Given the description of an element on the screen output the (x, y) to click on. 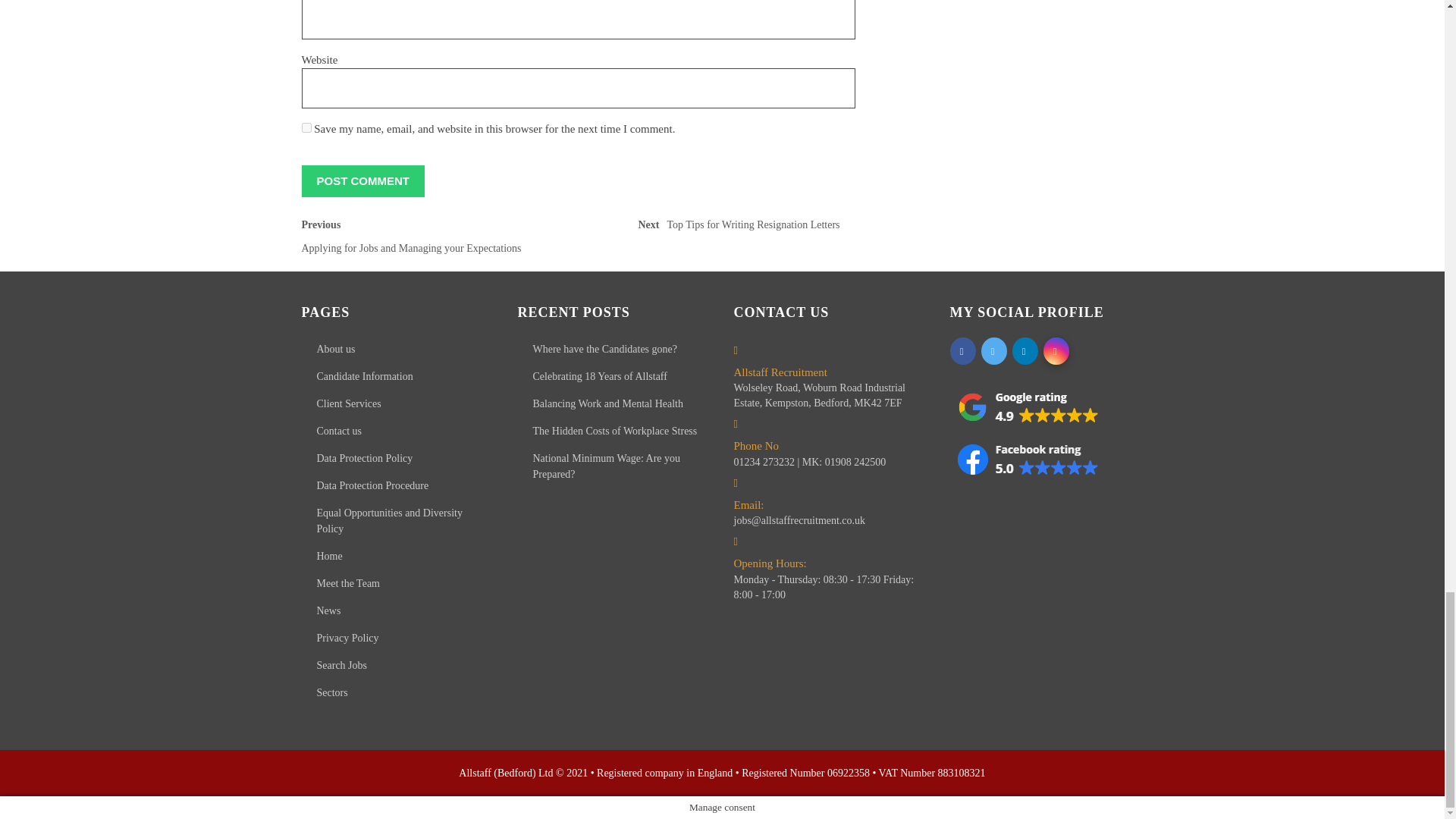
Post Comment (363, 180)
yes (435, 240)
Post Comment (306, 127)
